Given the description of an element on the screen output the (x, y) to click on. 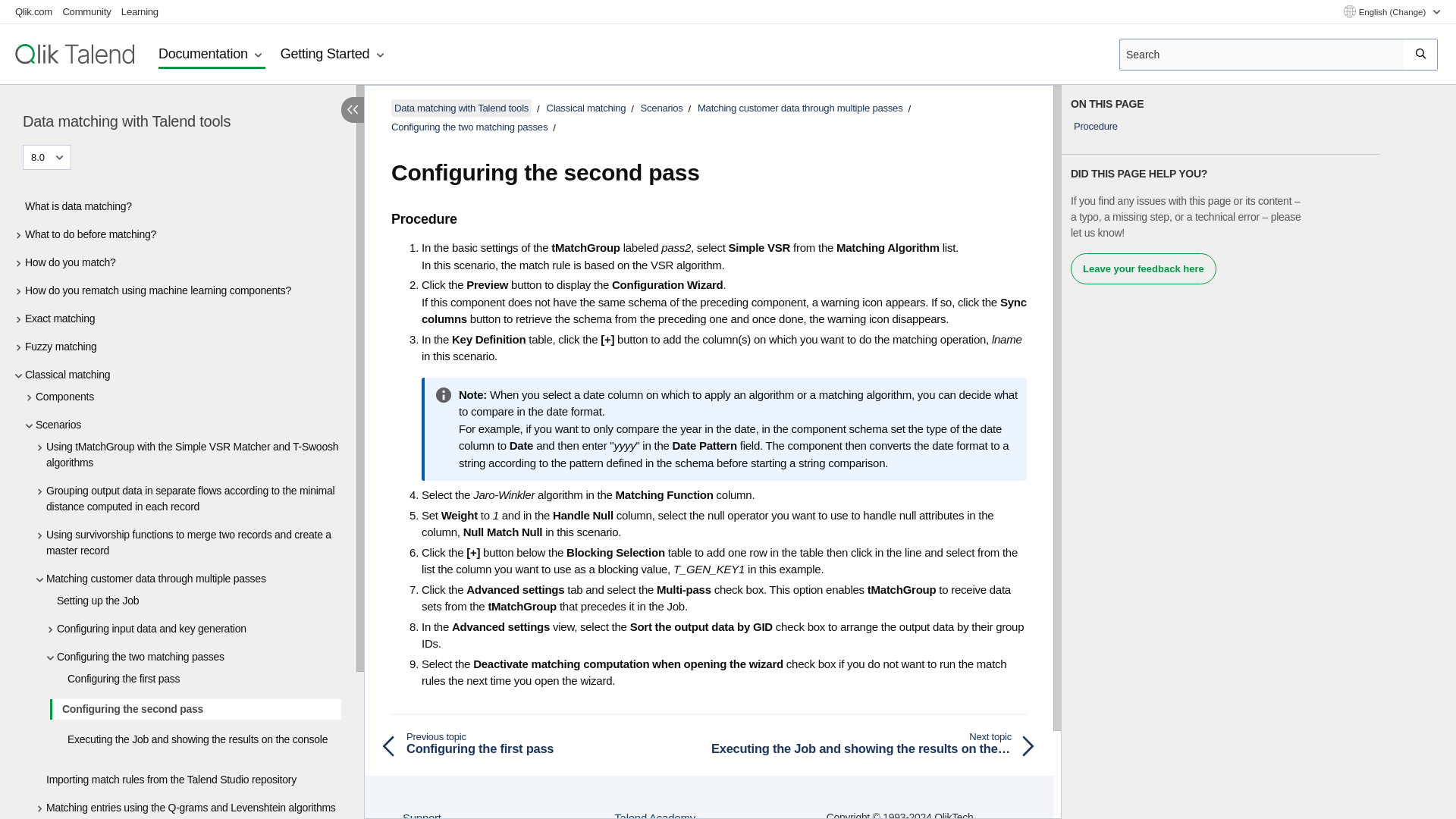
Learning (139, 11)
Community (86, 11)
Documentation (211, 54)
Getting Started (334, 54)
Search (1421, 54)
Qlik.com (33, 11)
